Given the description of an element on the screen output the (x, y) to click on. 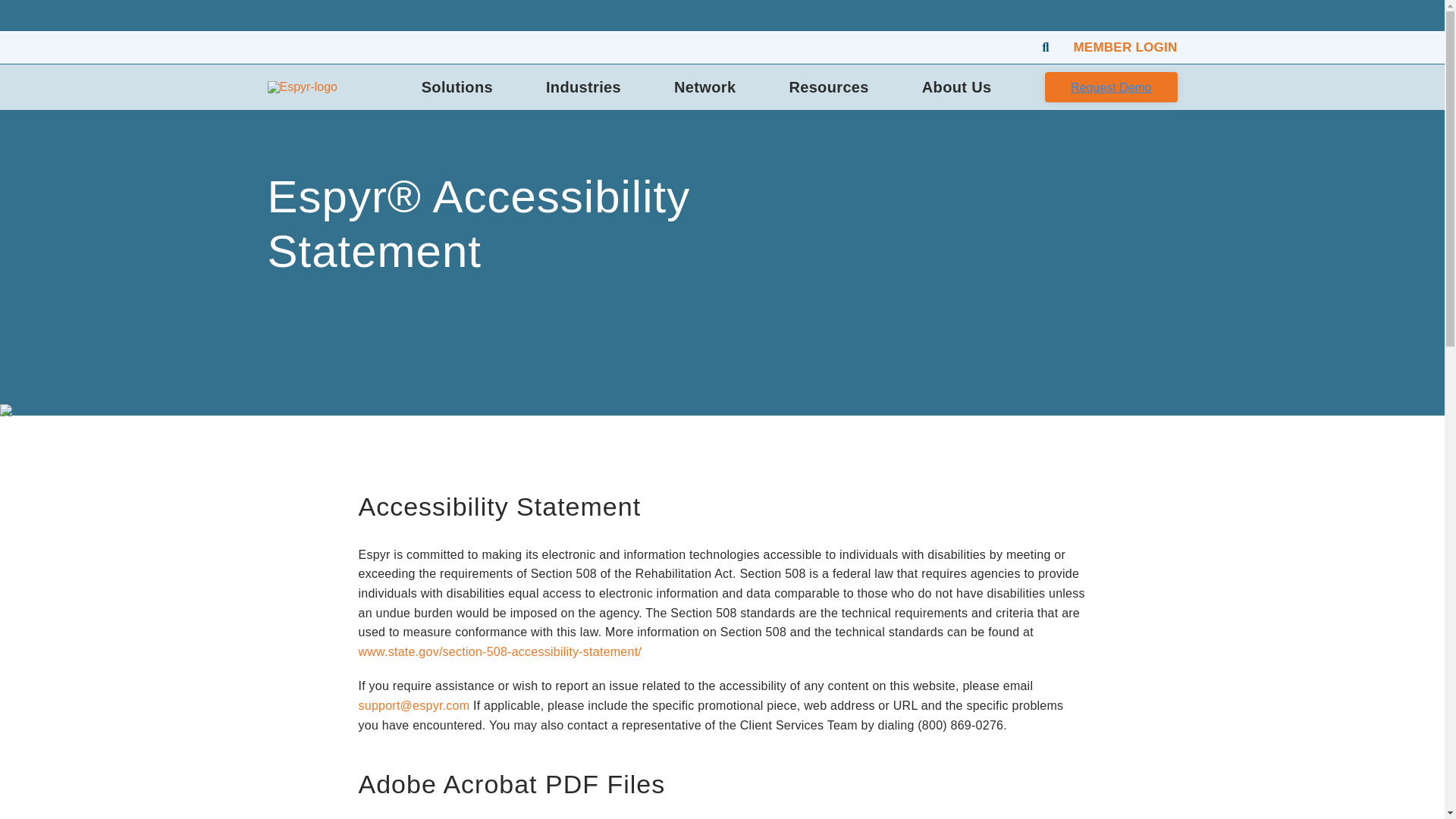
About Us (956, 87)
Solutions (457, 87)
Network (704, 87)
MEMBER LOGIN (1124, 46)
Industries (583, 87)
Resources (828, 87)
